Given the description of an element on the screen output the (x, y) to click on. 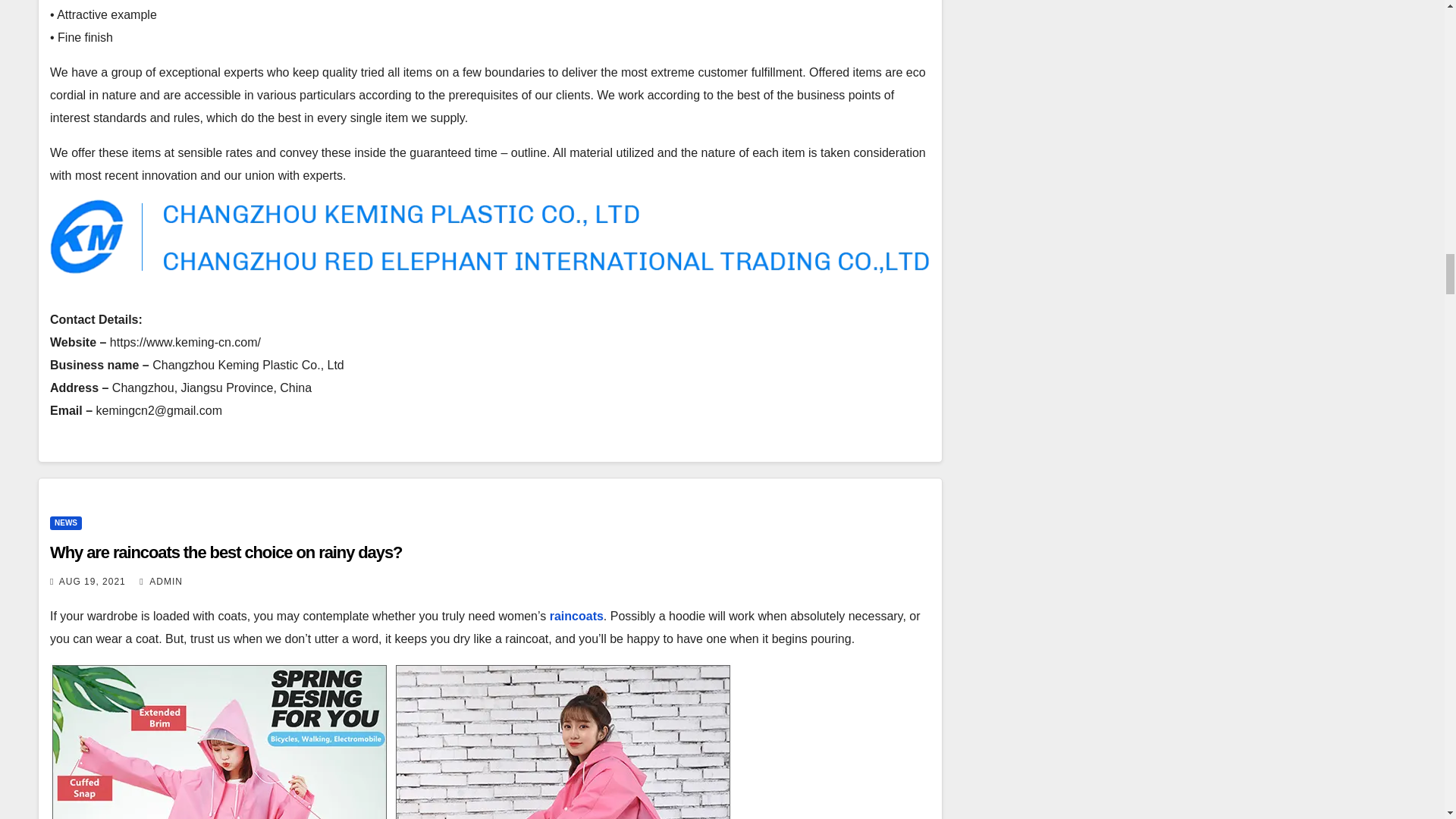
raincoats (577, 615)
AUG 19, 2021 (92, 581)
ADMIN (161, 581)
Why are raincoats the best choice on rainy days? (225, 551)
NEWS (65, 522)
